Given the description of an element on the screen output the (x, y) to click on. 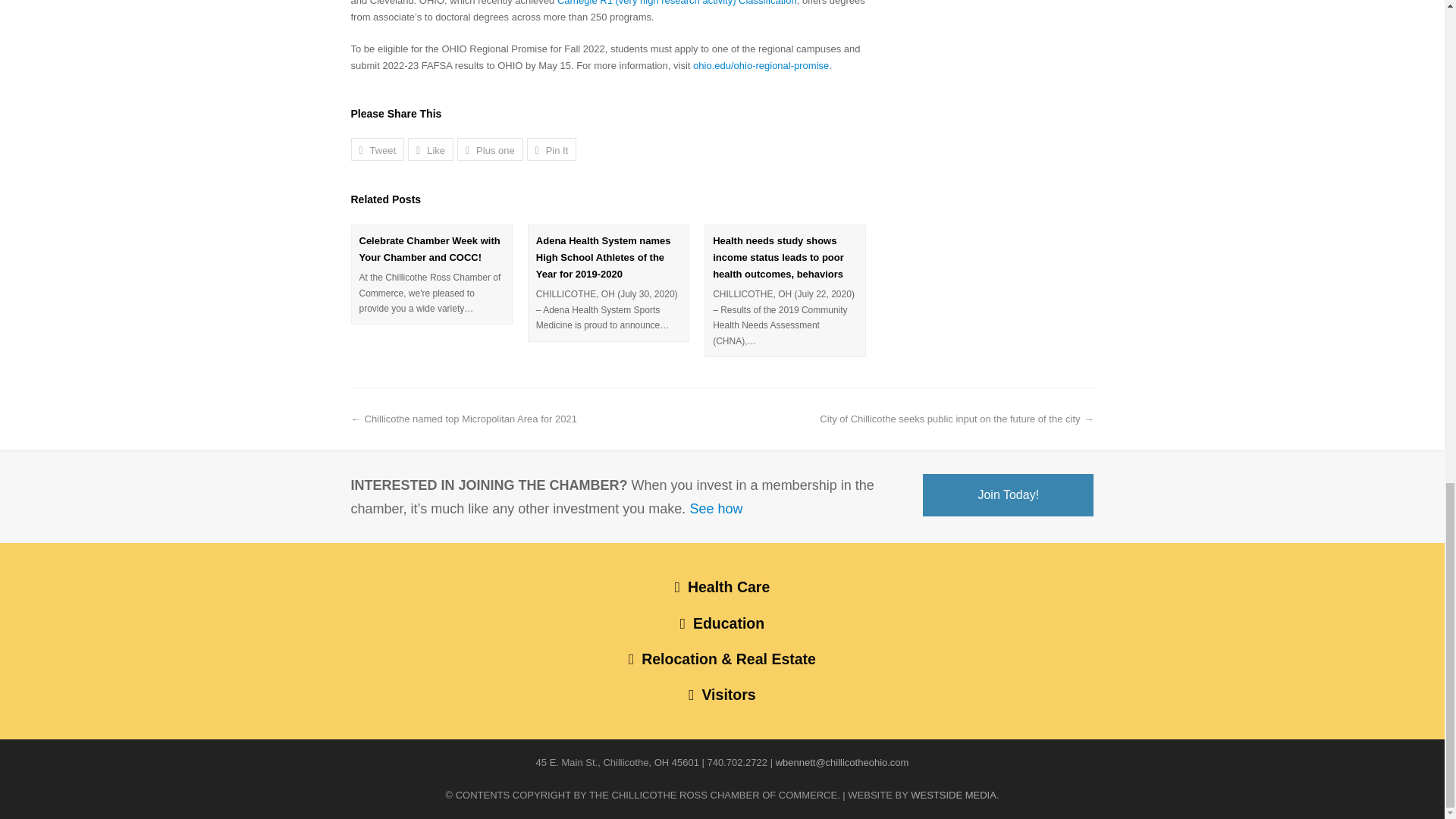
Celebrate Chamber Week with Your Chamber and COCC! (431, 249)
Share on Pinterest (551, 149)
Share on Facebook (429, 149)
Share on Twitter (377, 149)
